Given the description of an element on the screen output the (x, y) to click on. 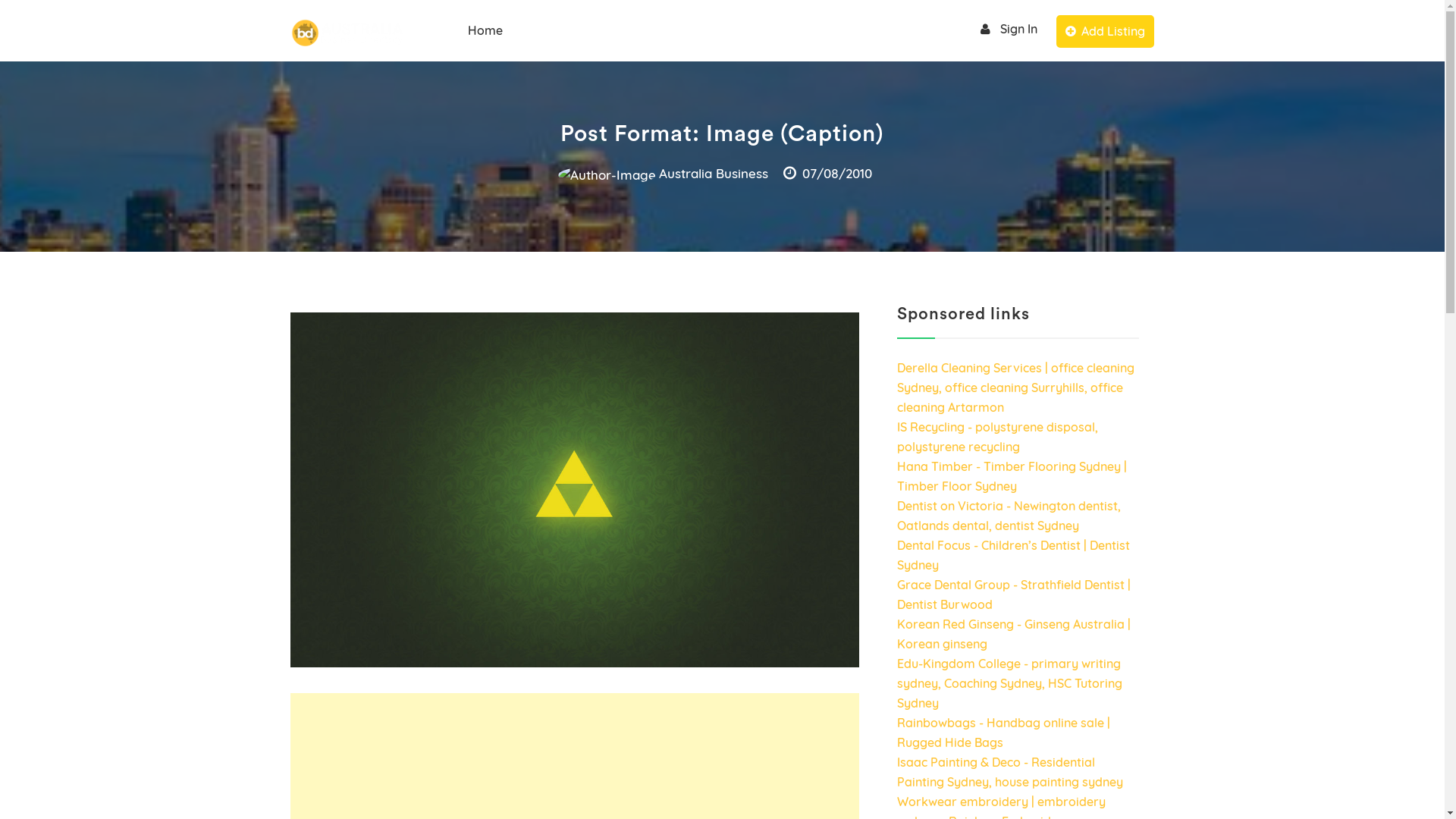
07/08/2010 Element type: text (826, 173)
IS Recycling - polystyrene disposal, polystyrene recycling Element type: text (996, 436)
Add Listing Element type: text (1105, 31)
Australia Business Element type: text (663, 173)
Australia Business Blog | Australian Business Review Element type: text (361, 109)
Home Element type: text (484, 30)
Hana Timber - Timber Flooring Sydney | Timber Floor Sydney Element type: text (1011, 475)
Grace Dental Group - Strathfield Dentist | Dentist Burwood Element type: text (1012, 594)
Korean Red Ginseng - Ginseng Australia | Korean ginseng Element type: text (1012, 633)
Sign In Element type: text (1006, 28)
Rainbowbags - Handbag online sale | Rugged Hide Bags Element type: text (1002, 732)
